Given the description of an element on the screen output the (x, y) to click on. 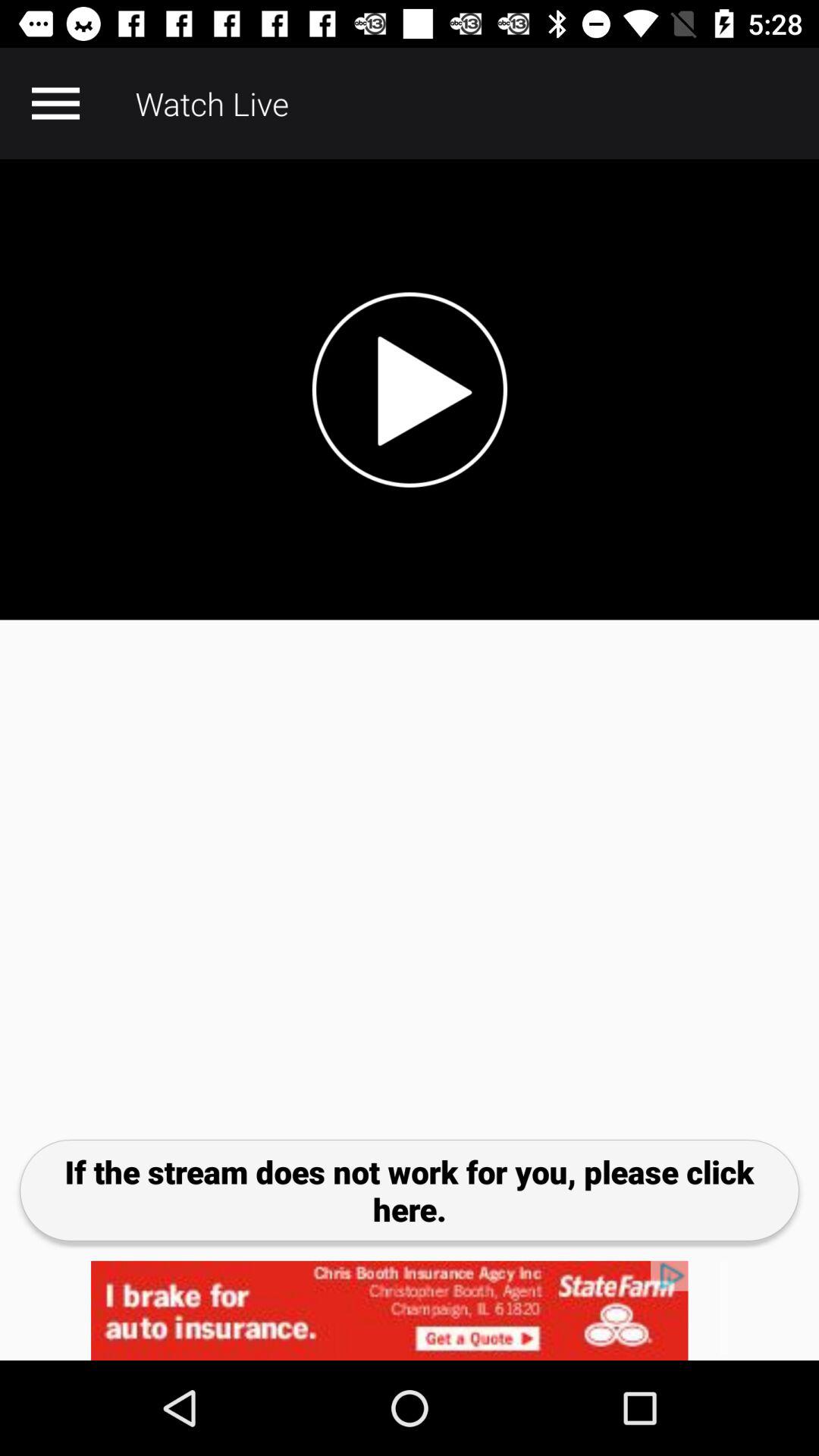
open menu (55, 103)
